Given the description of an element on the screen output the (x, y) to click on. 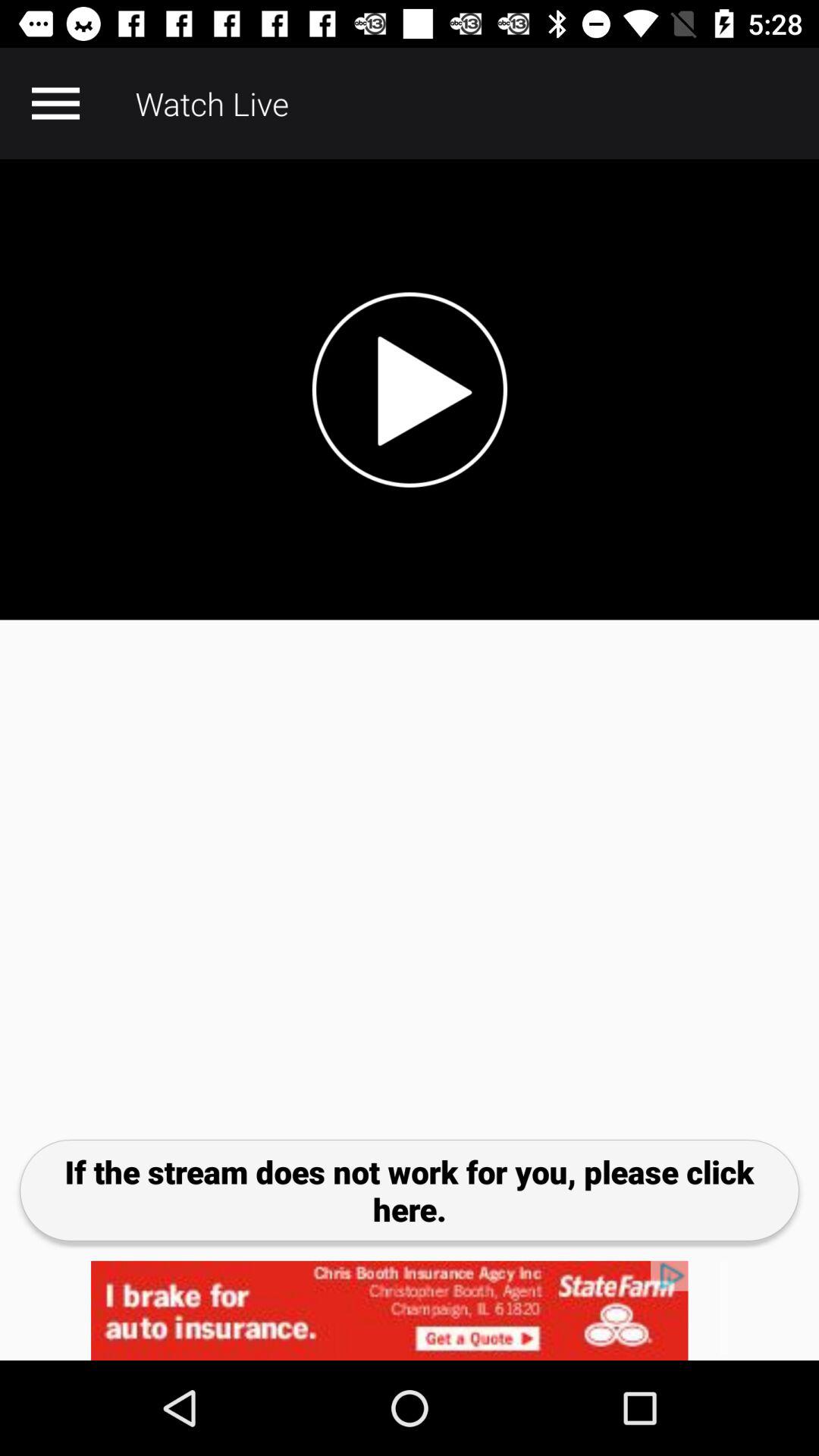
open menu (55, 103)
